Given the description of an element on the screen output the (x, y) to click on. 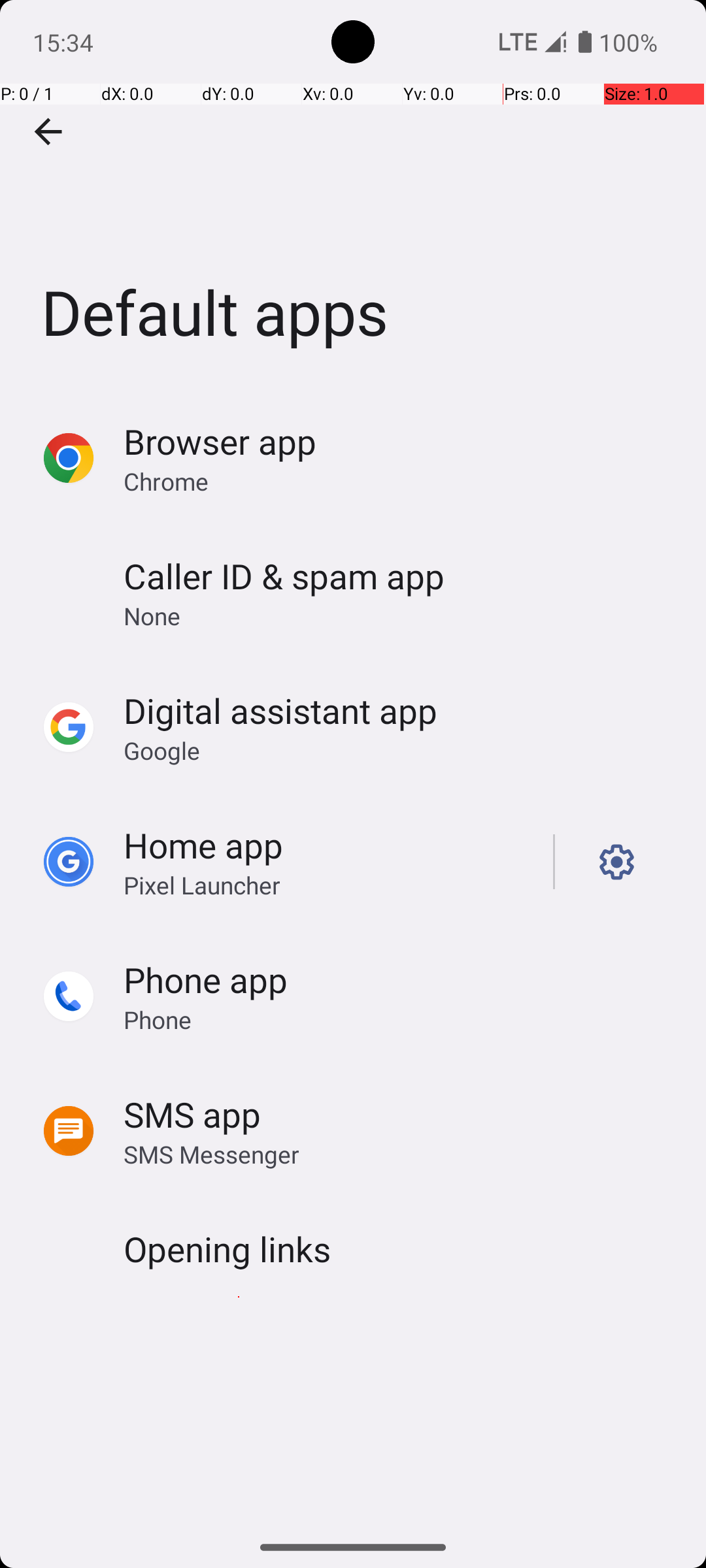
Browser app Element type: android.widget.TextView (220, 441)
Caller ID & spam app Element type: android.widget.TextView (283, 575)
Digital assistant app Element type: android.widget.TextView (280, 710)
Home app Element type: android.widget.TextView (203, 844)
Pixel Launcher Element type: android.widget.TextView (201, 884)
Phone app Element type: android.widget.TextView (205, 979)
SMS app Element type: android.widget.TextView (191, 1114)
Opening links Element type: android.widget.TextView (226, 1248)
